Given the description of an element on the screen output the (x, y) to click on. 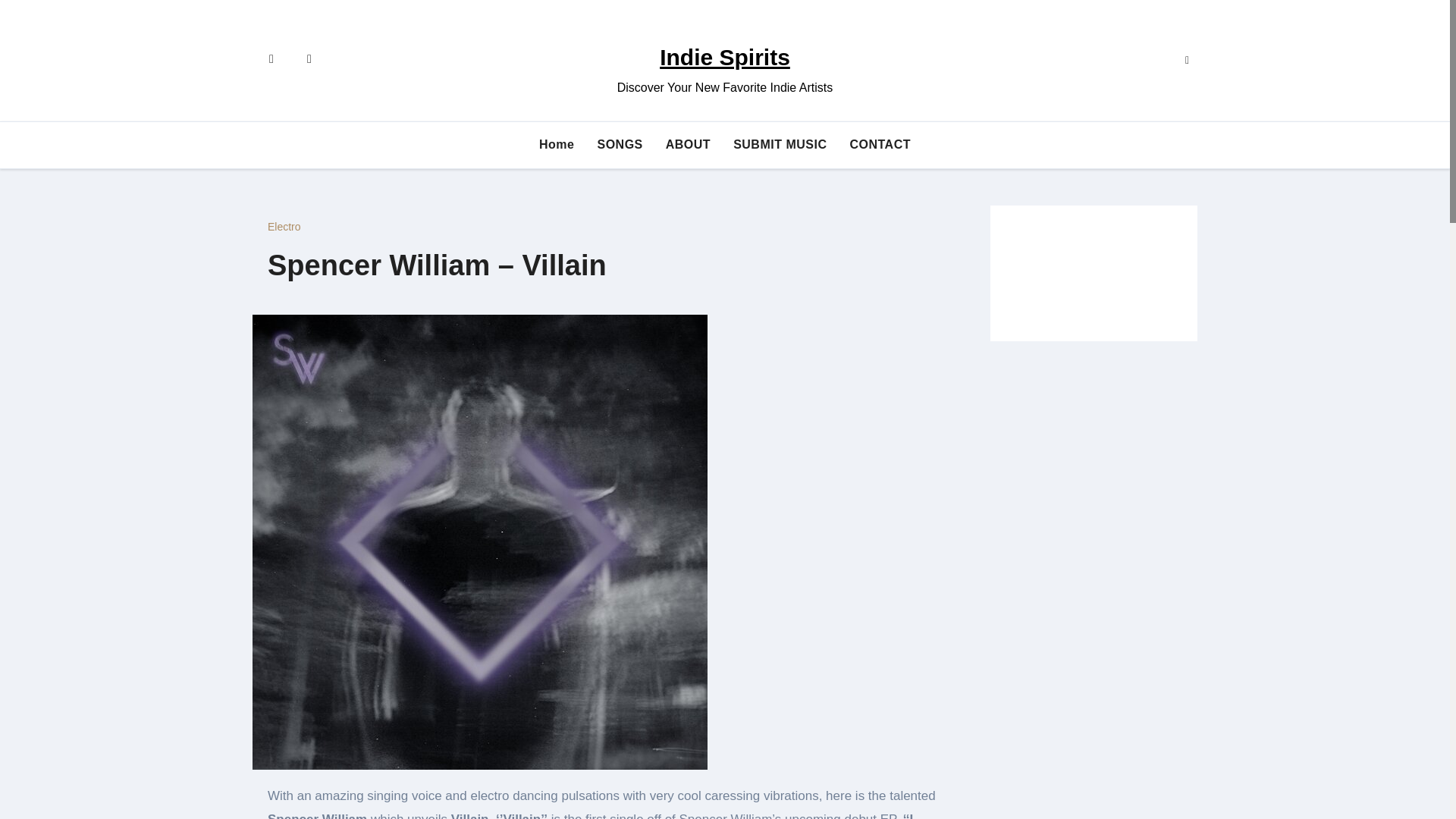
CONTACT (879, 144)
Home (556, 144)
SUBMIT MUSIC (780, 144)
Indie Spirits (724, 57)
SUBMIT MUSIC (780, 144)
Home (556, 144)
SONGS (619, 144)
ABOUT (687, 144)
Electro (284, 226)
SONGS (619, 144)
ABOUT (687, 144)
CONTACT (879, 144)
